Given the description of an element on the screen output the (x, y) to click on. 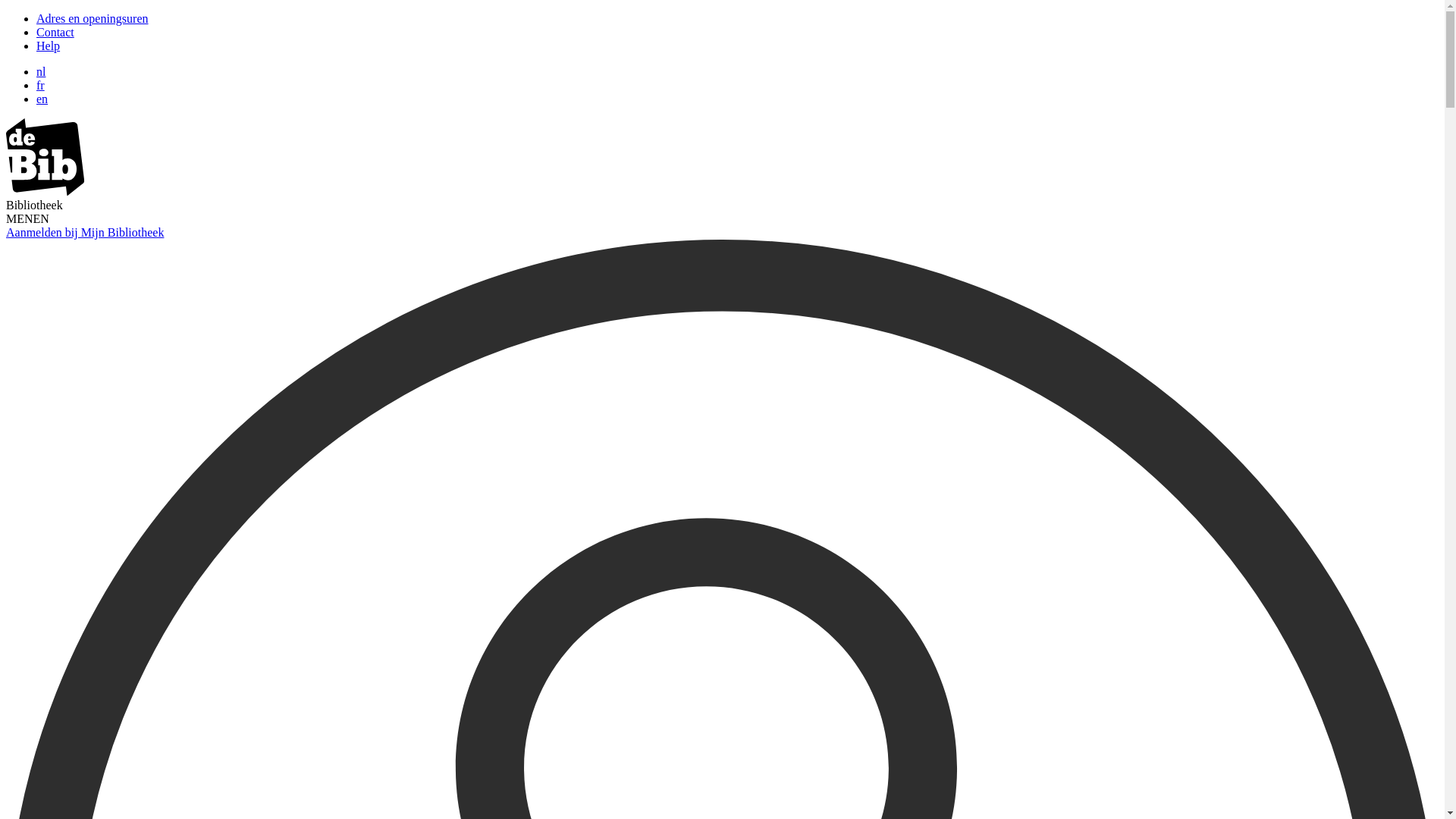
Aanmelden bij Mijn Bibliotheek Element type: text (84, 231)
image/svg+xml Element type: text (45, 191)
Adres en openingsuren Element type: text (92, 18)
nl Element type: text (40, 71)
en Element type: text (41, 98)
Help Element type: text (47, 45)
Contact Element type: text (55, 31)
fr Element type: text (40, 84)
Overslaan en naar zoeken gaan Element type: text (6, 12)
